Given the description of an element on the screen output the (x, y) to click on. 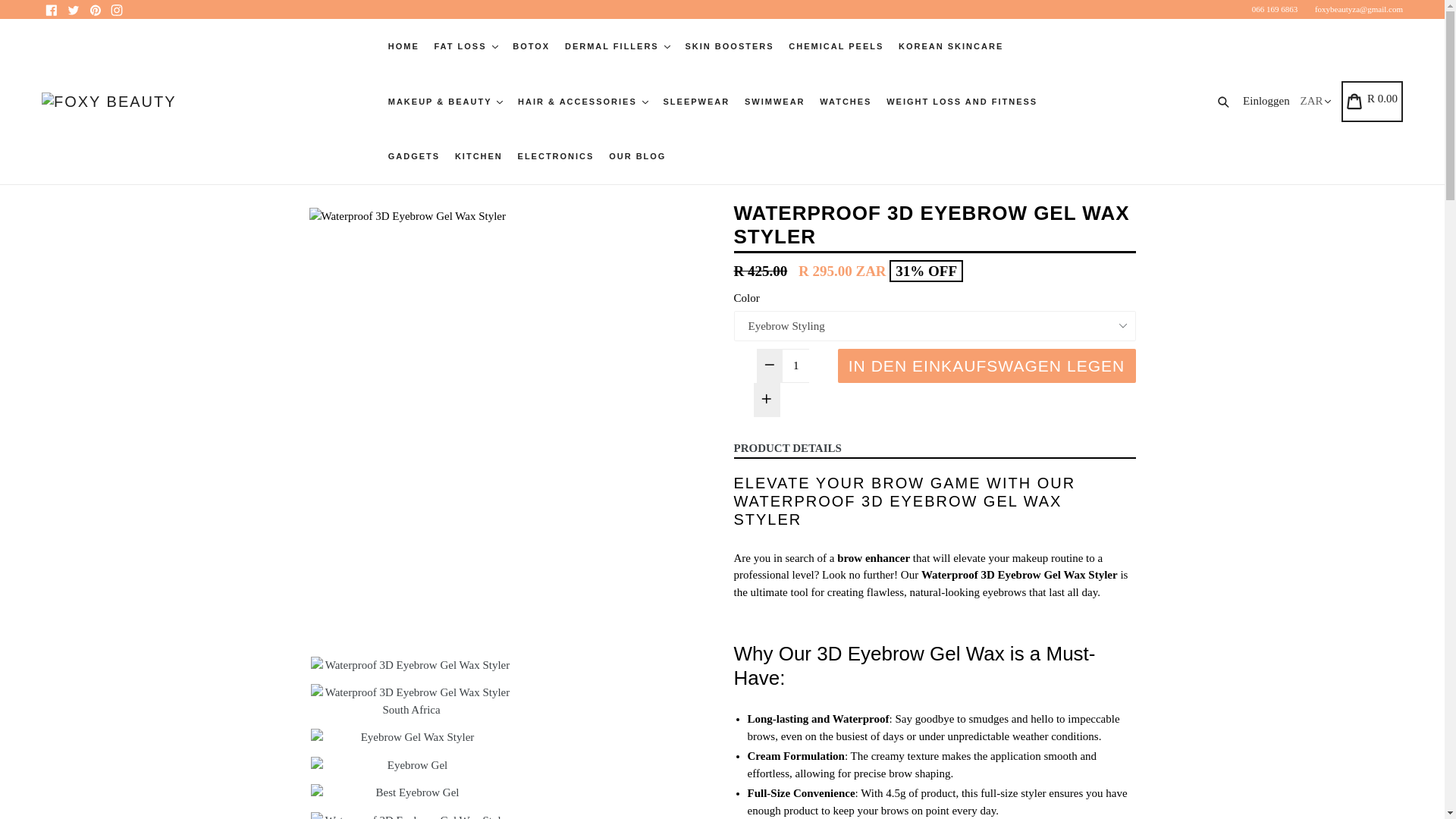
Foxy Beauty auf Instagram (116, 9)
Foxy Beauty auf Twitter (73, 9)
1 (796, 365)
Foxy Beauty auf Facebook (51, 9)
Foxy Beauty auf Pinterest (94, 9)
